Given the description of an element on the screen output the (x, y) to click on. 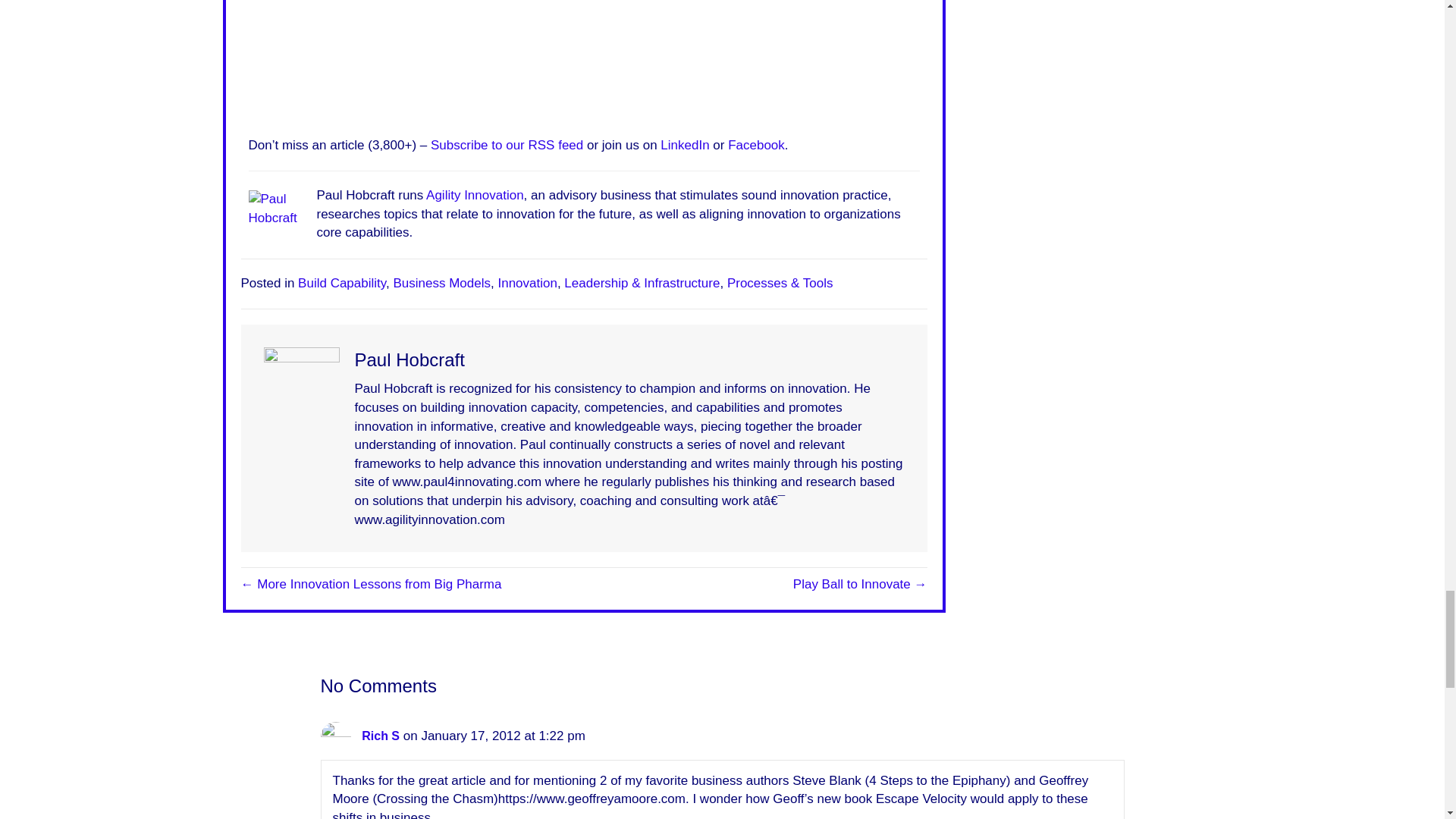
LinkedIn (685, 145)
Agility Innovation (475, 195)
Business Models (441, 283)
Subscribe to our RSS feed (506, 145)
Build Capability (341, 283)
Facebook (756, 145)
Innovation (526, 283)
